Given the description of an element on the screen output the (x, y) to click on. 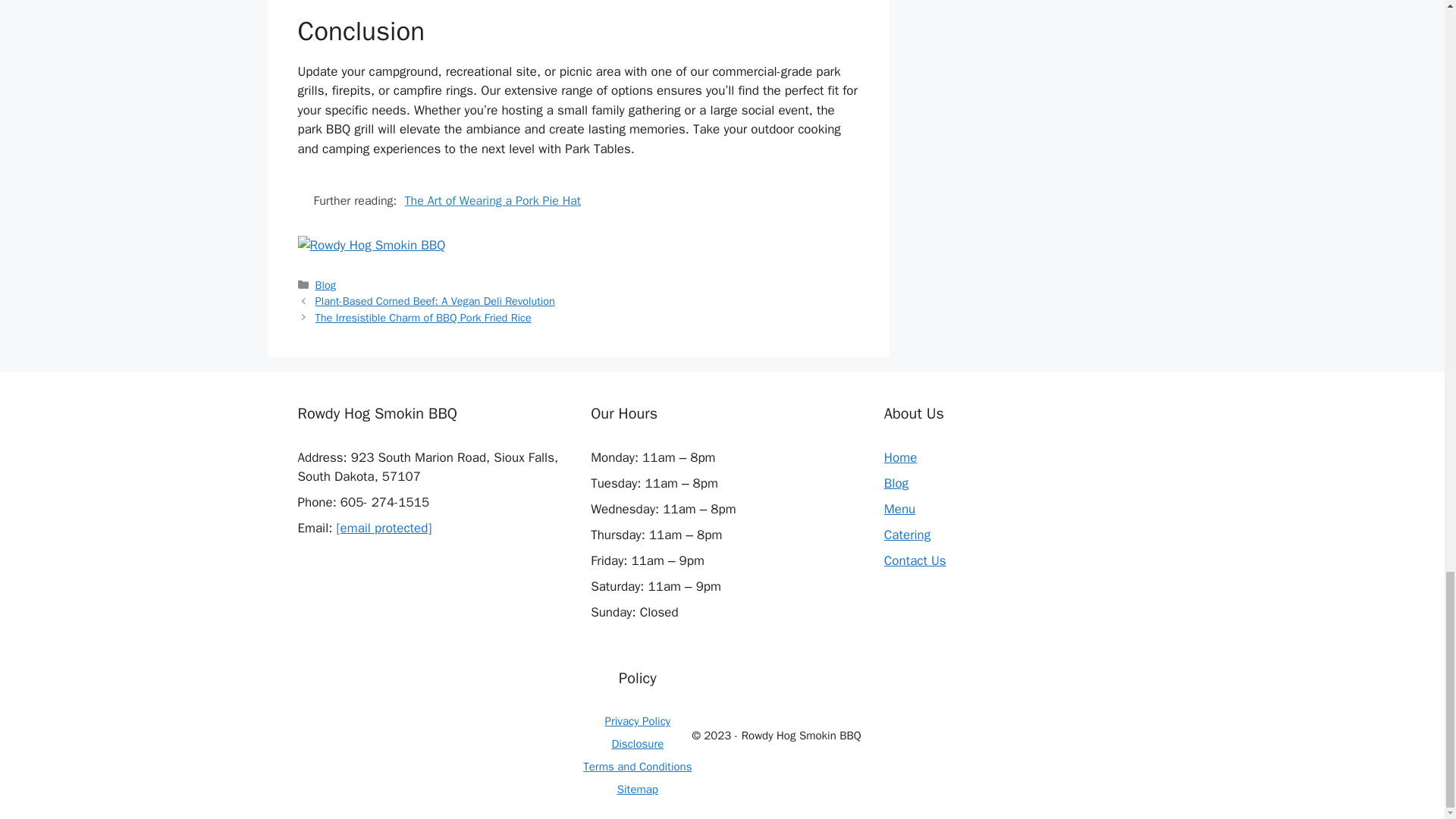
Sitemap (637, 789)
Blog (895, 483)
Home (900, 457)
Plant-Based Corned Beef: A Vegan Deli Revolution (434, 300)
Contact Us (914, 560)
Blog (325, 284)
Menu (899, 508)
Privacy Policy (638, 721)
Disclosure (637, 744)
The Irresistible Charm of BBQ Pork Fried Rice (423, 317)
Further reading:  The Art of Wearing a Pork Pie Hat (578, 200)
Terms and Conditions (637, 766)
Catering (906, 534)
